Given the description of an element on the screen output the (x, y) to click on. 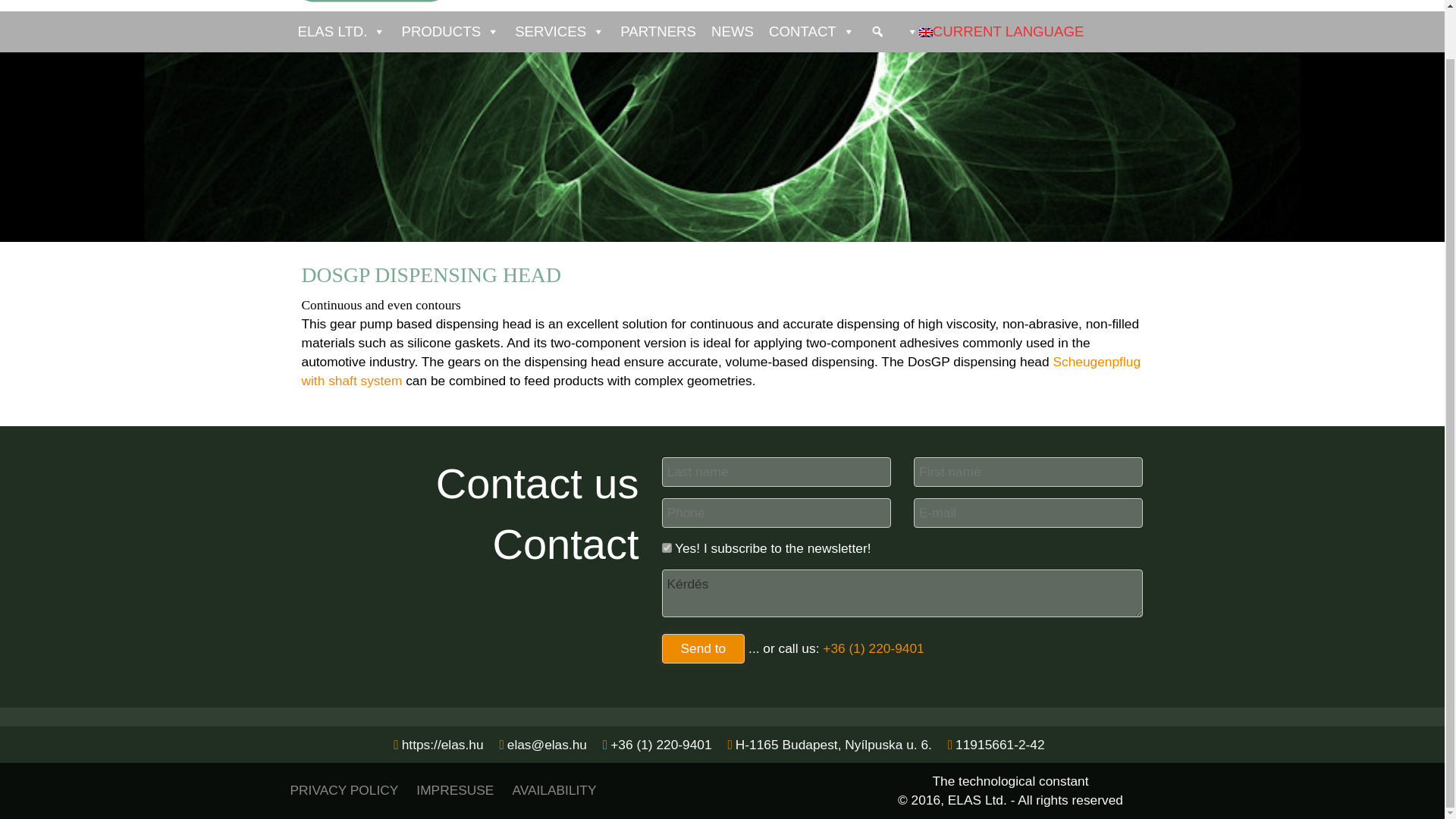
PRODUCTS (449, 31)
Current Language (925, 31)
ELAS LTD. (341, 31)
0 (666, 547)
Send to (702, 648)
